Given the description of an element on the screen output the (x, y) to click on. 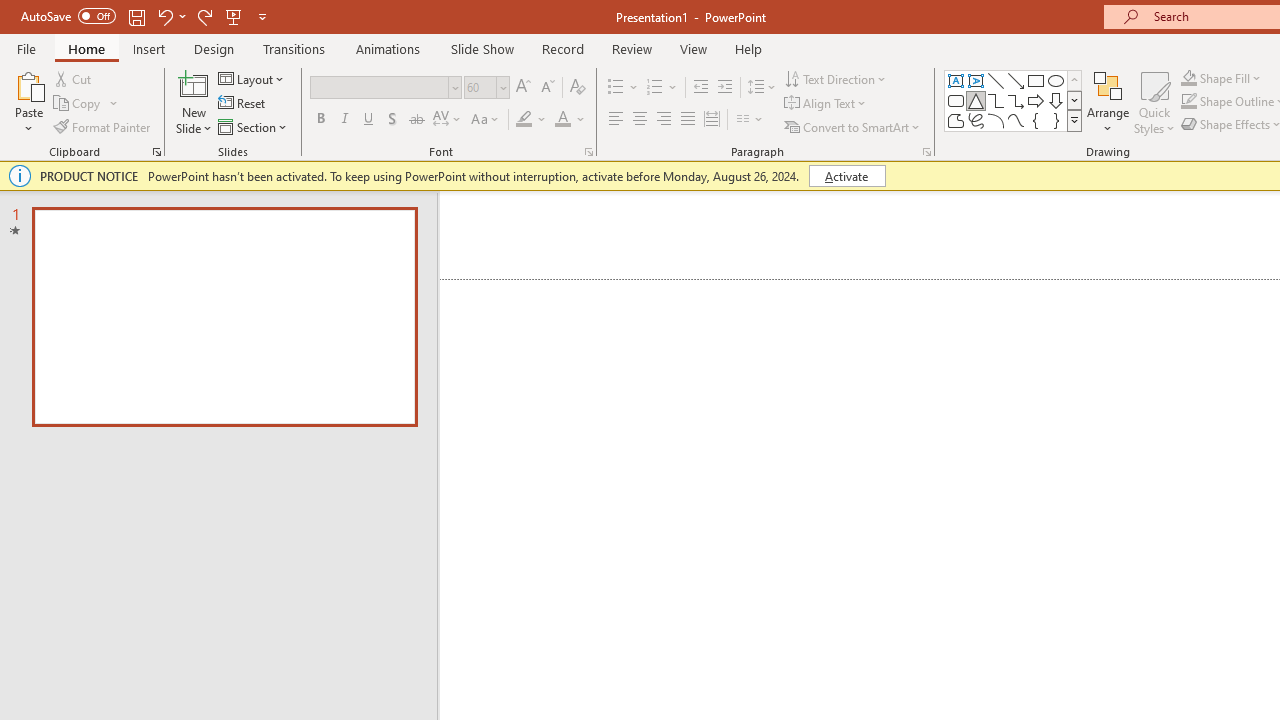
Font (379, 87)
Row Down (1074, 100)
Convert to SmartArt (853, 126)
Numbering (661, 87)
Shadow (392, 119)
Shape Fill Orange, Accent 2 (1188, 78)
Text Box (955, 80)
Oval (1055, 80)
Activate (846, 175)
Font Color (569, 119)
Text Highlight Color Yellow (524, 119)
Line Arrow (1016, 80)
Connector: Elbow Arrow (1016, 100)
Bullets (616, 87)
